Given the description of an element on the screen output the (x, y) to click on. 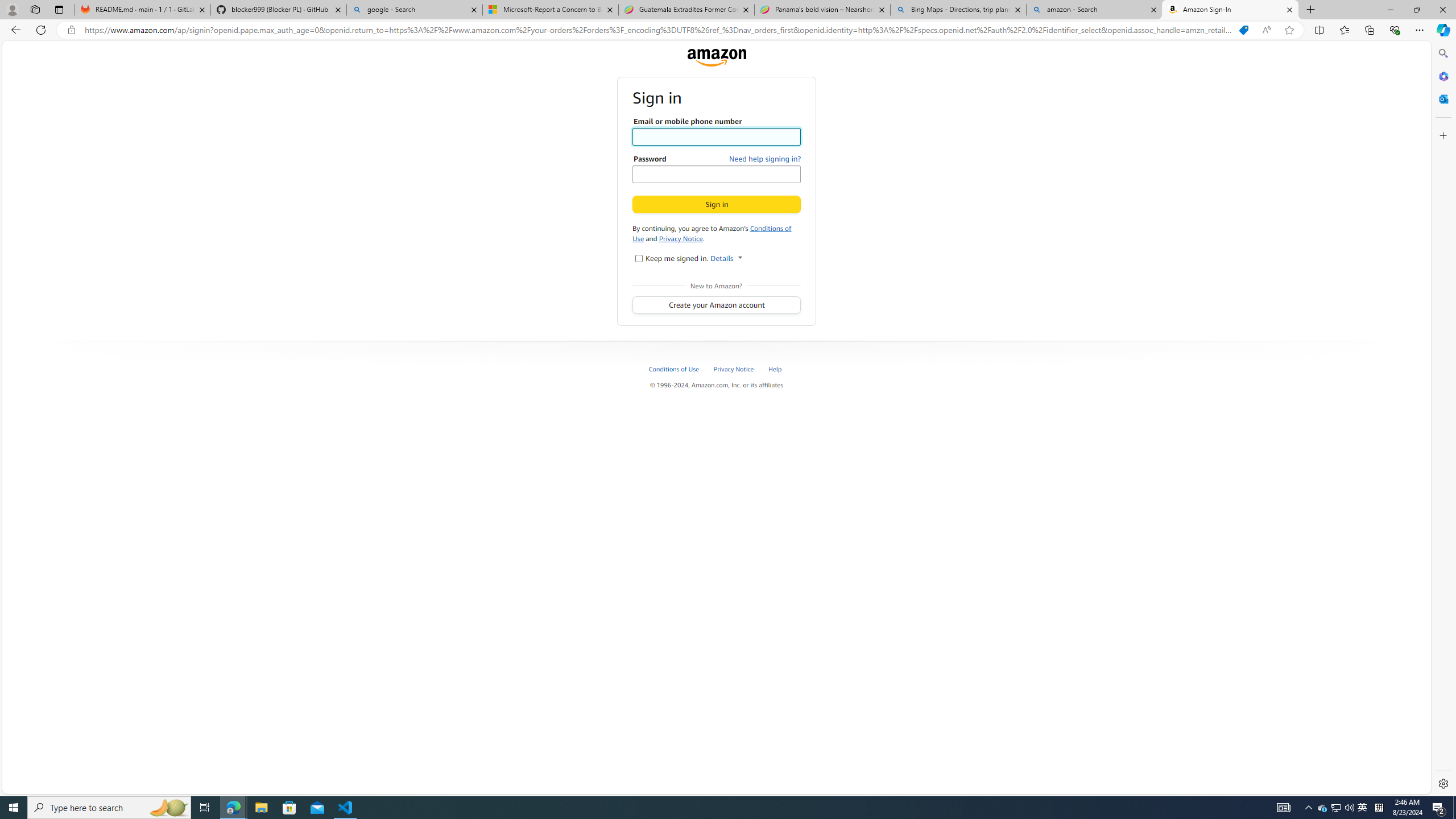
Amazon (716, 57)
Email or mobile phone number (715, 136)
Amazon (716, 57)
